Given the description of an element on the screen output the (x, y) to click on. 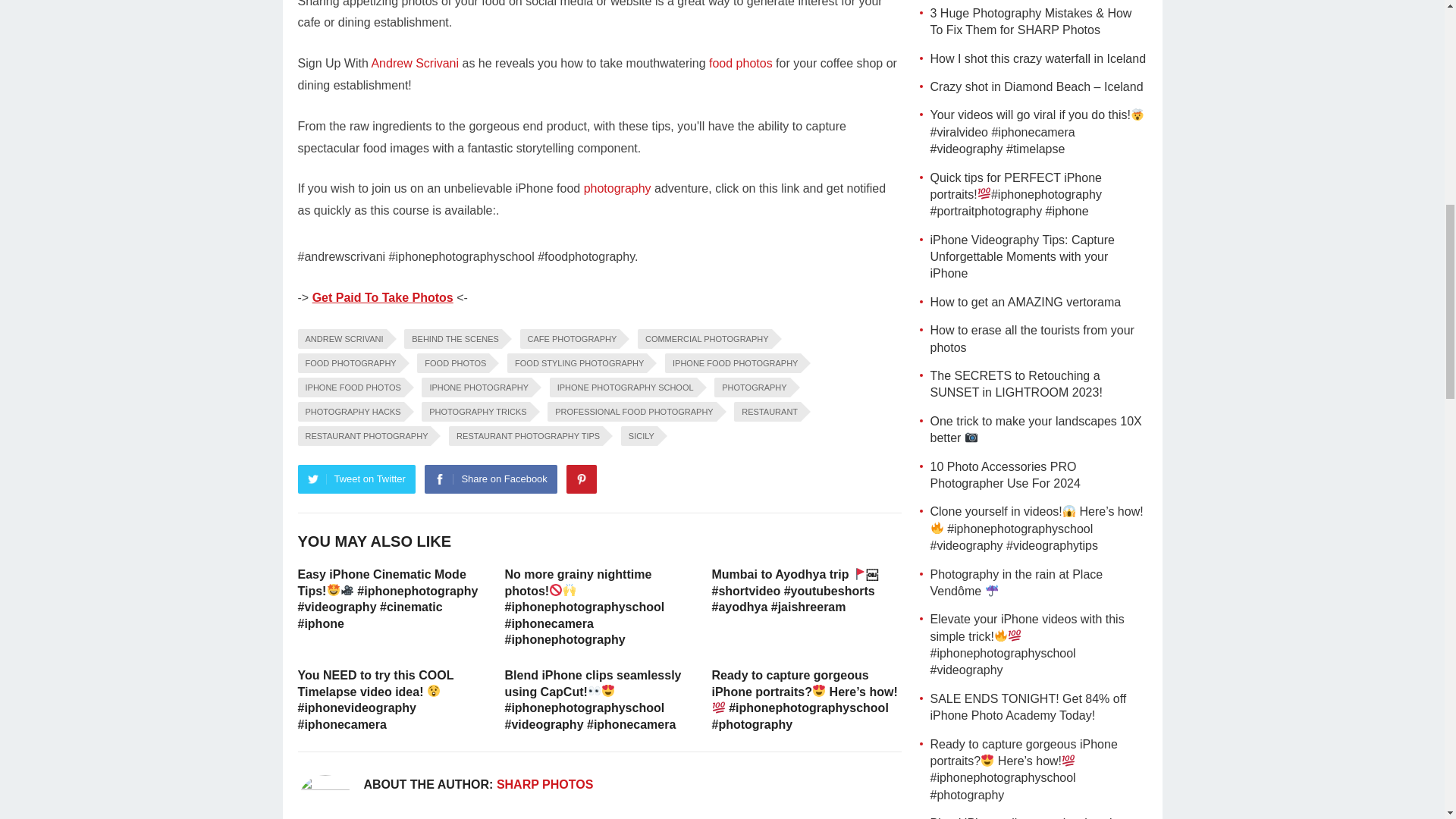
photography (616, 187)
Andrew Scrivani (414, 62)
ANDREW SCRIVANI (341, 338)
Posts tagged with photography (616, 187)
Get Paid To Take Photos (382, 297)
BEHIND THE SCENES (453, 338)
food photos (741, 62)
FOOD PHOTOGRAPHY (347, 362)
Posts tagged with Andrew Scrivani (414, 62)
COMMERCIAL PHOTOGRAPHY (704, 338)
